Given the description of an element on the screen output the (x, y) to click on. 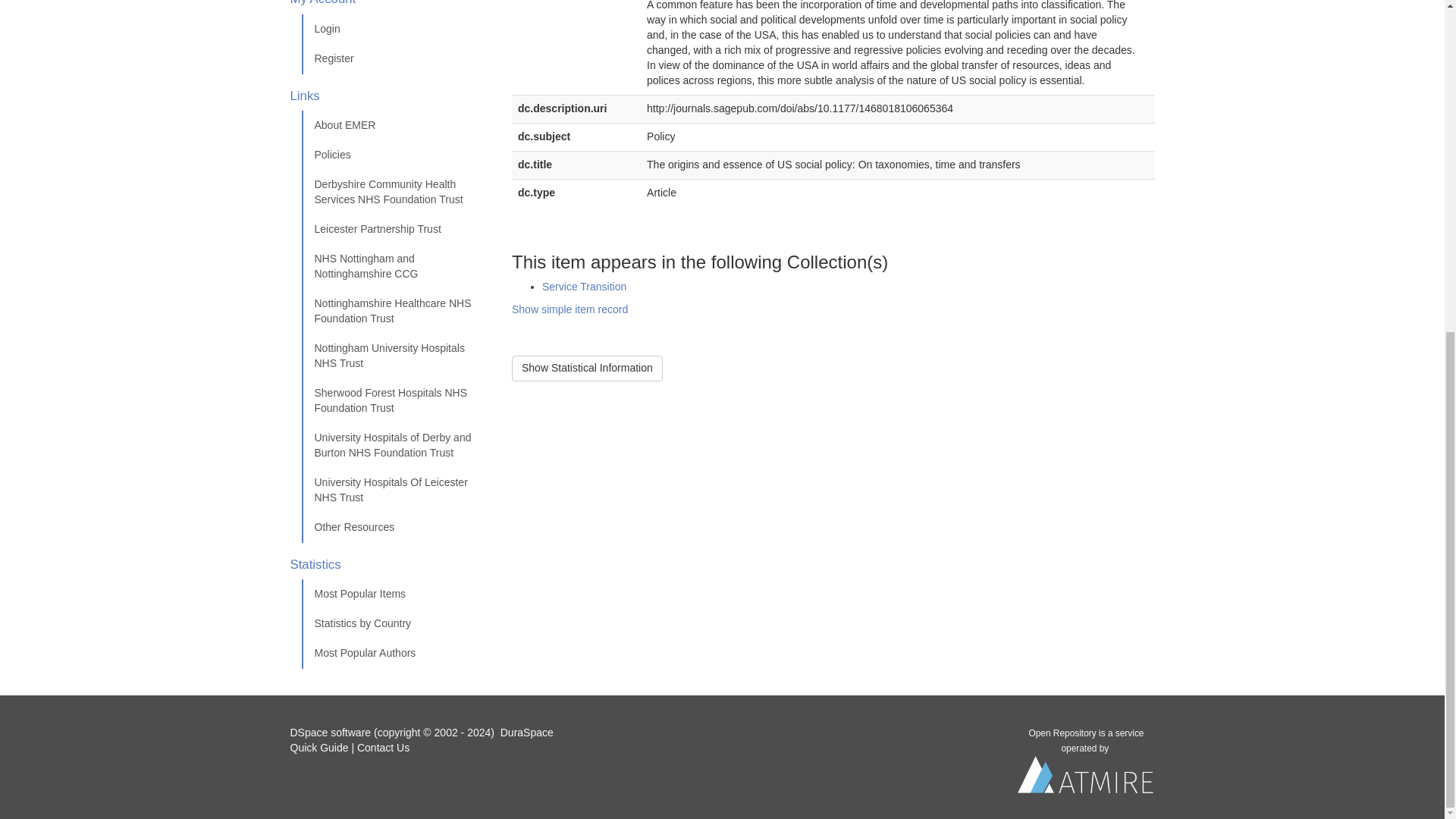
Register (395, 59)
Sherwood Forest Hospitals NHS Foundation Trust (395, 401)
Nottingham University Hospitals NHS Trust (395, 356)
Nottinghamshire Healthcare NHS Foundation Trust (395, 311)
Leicester Partnership Trust (395, 229)
Atmire NV (1085, 779)
Policies (395, 155)
About EMER (395, 125)
Derbyshire Community Health Services NHS Foundation Trust (395, 192)
Login (395, 29)
